Given the description of an element on the screen output the (x, y) to click on. 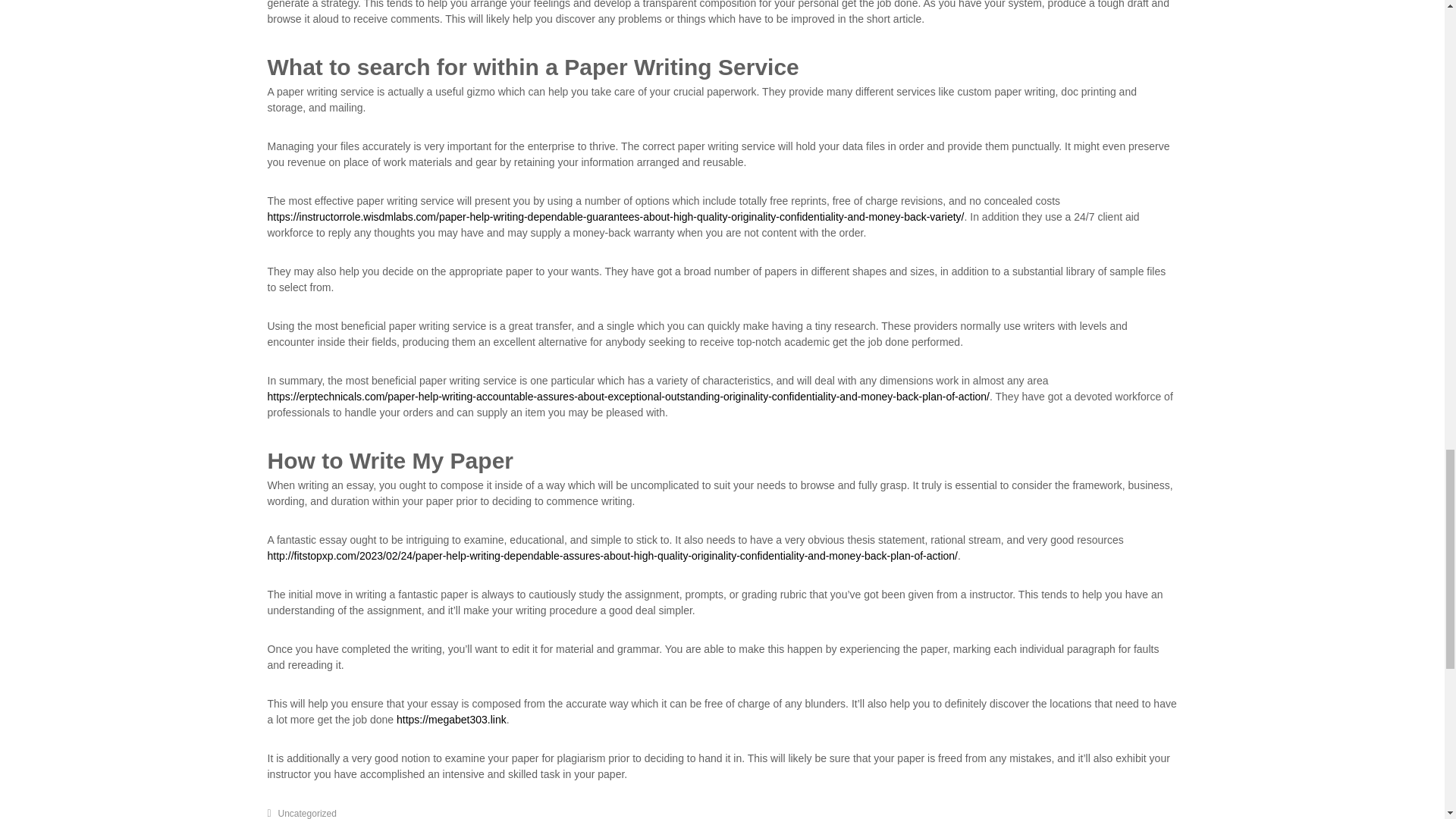
Uncategorized (307, 813)
